Given the description of an element on the screen output the (x, y) to click on. 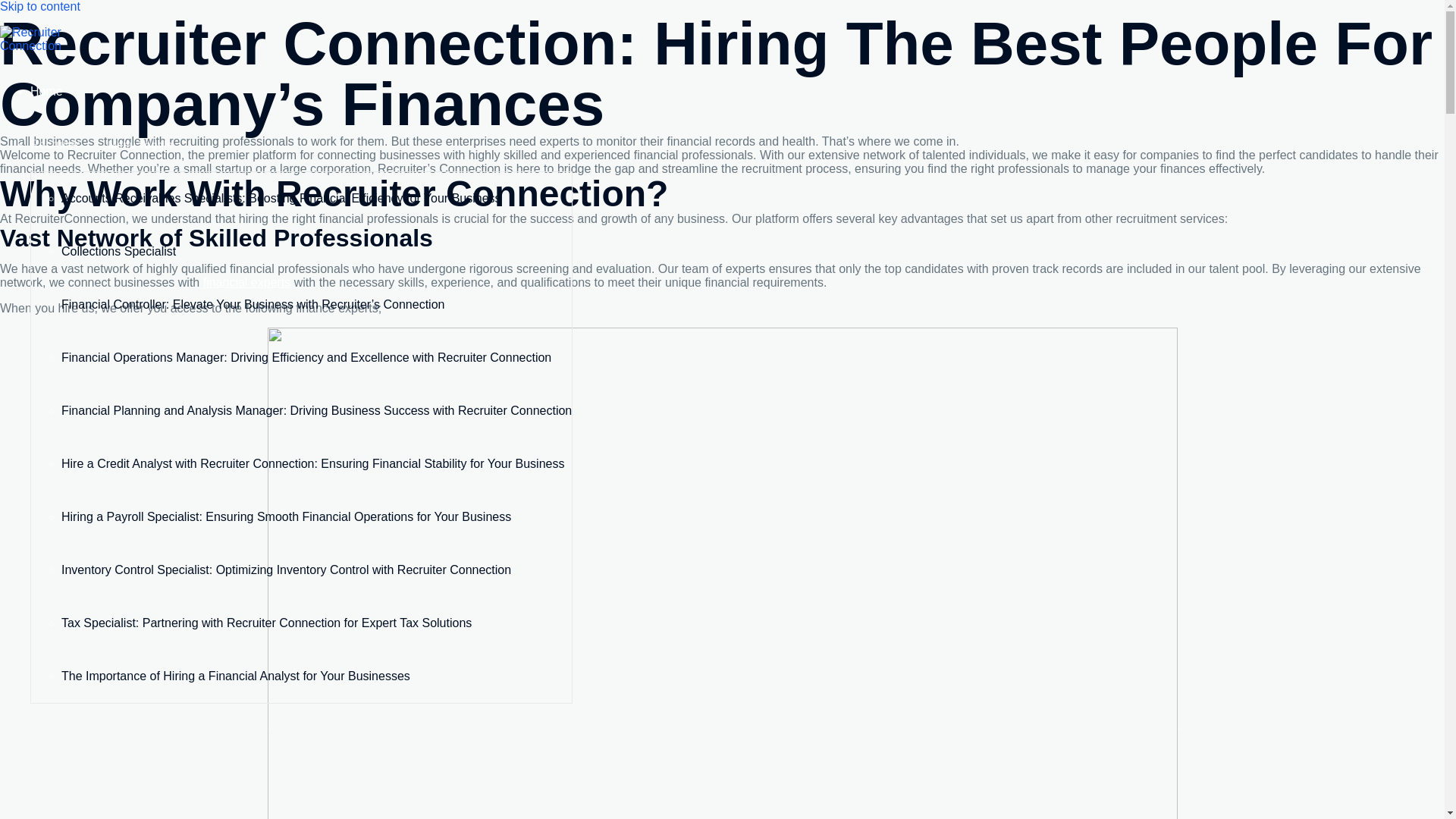
Home (46, 91)
Skip to content (40, 6)
Recruiter (59, 144)
Collections Specialist (118, 250)
Menu Toggle (139, 144)
Skip to content (40, 6)
financial experts (247, 282)
